Given the description of an element on the screen output the (x, y) to click on. 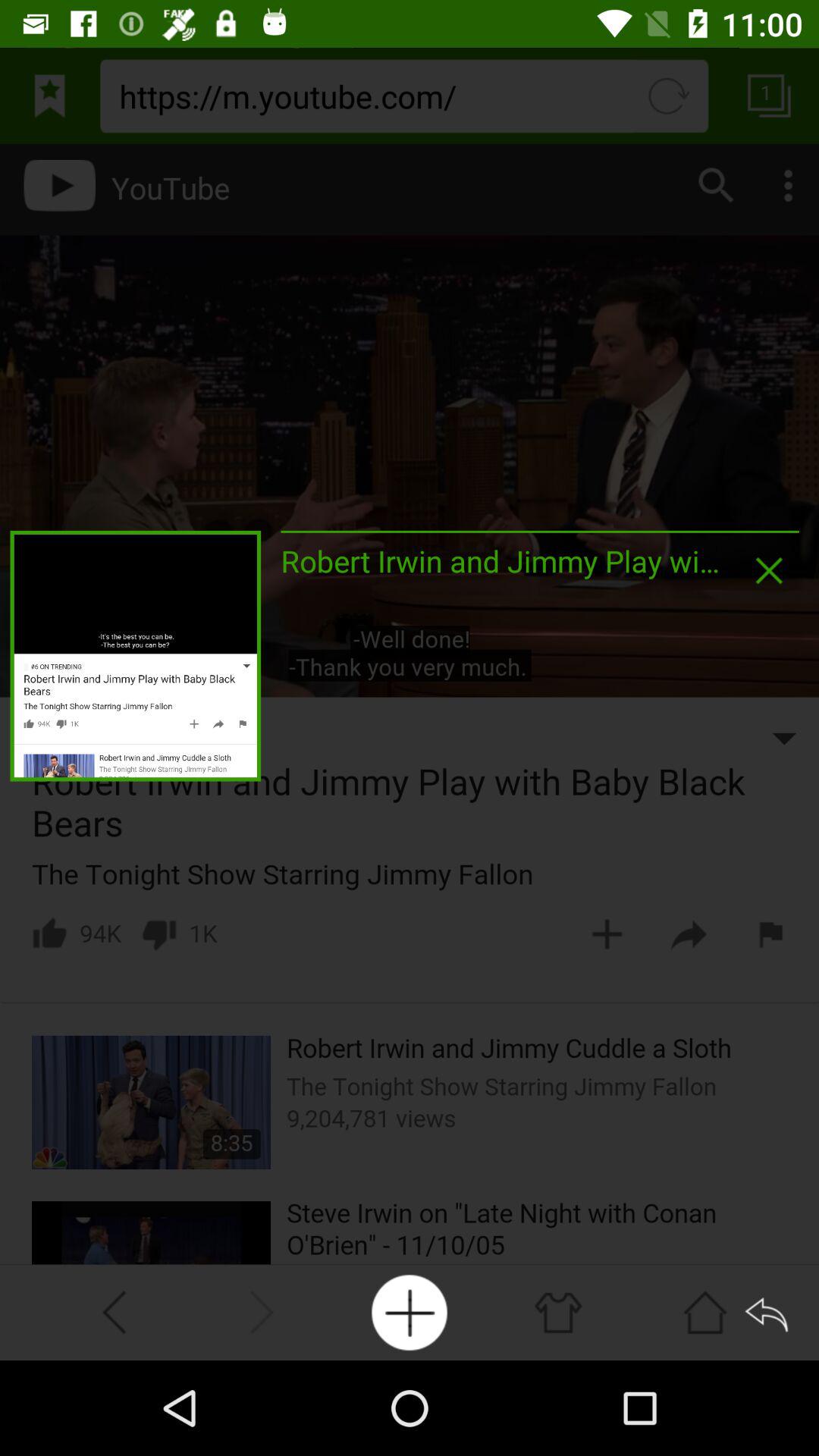
close window (769, 570)
